Given the description of an element on the screen output the (x, y) to click on. 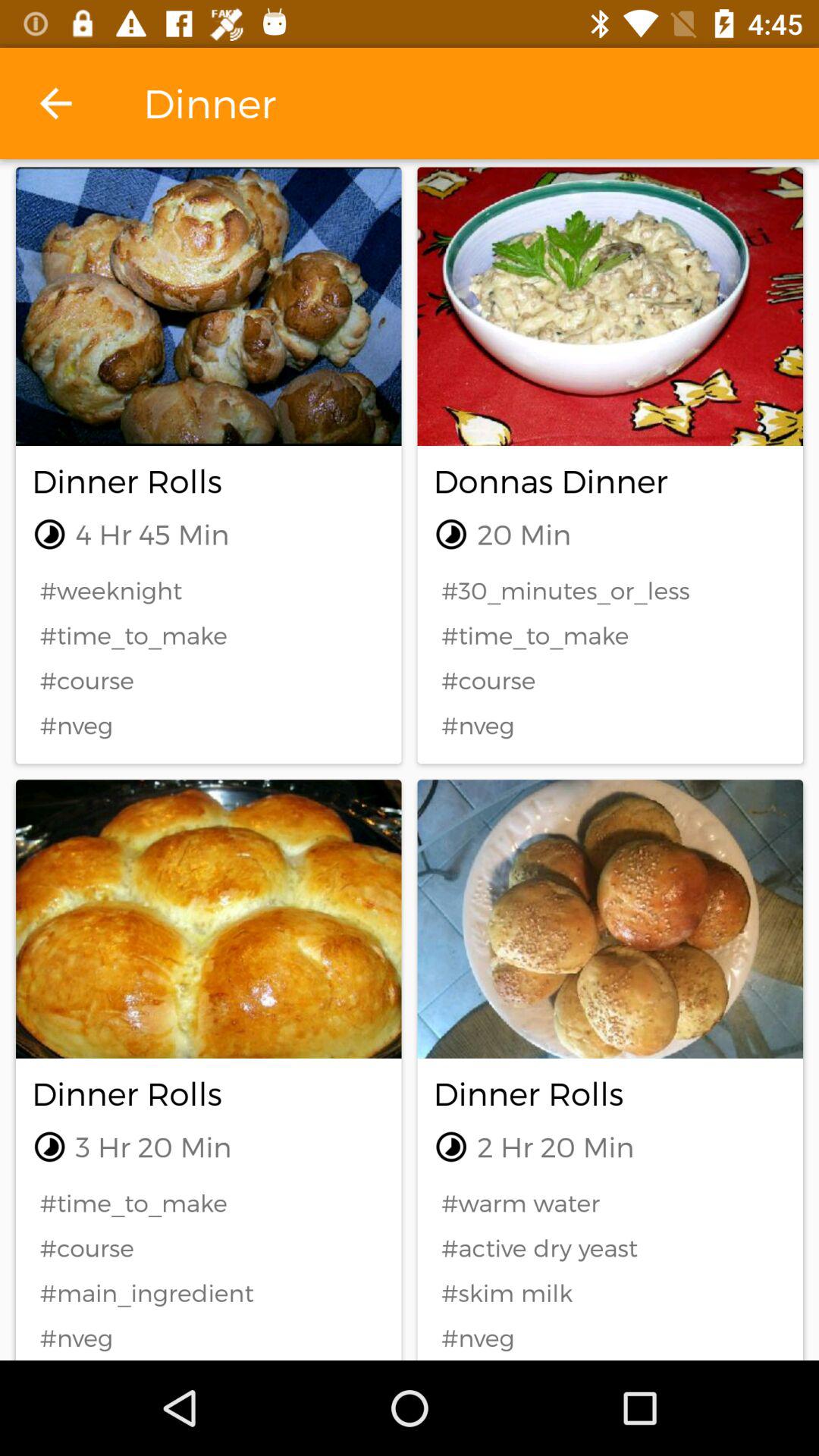
open #main_ingredient (208, 1292)
